Given the description of an element on the screen output the (x, y) to click on. 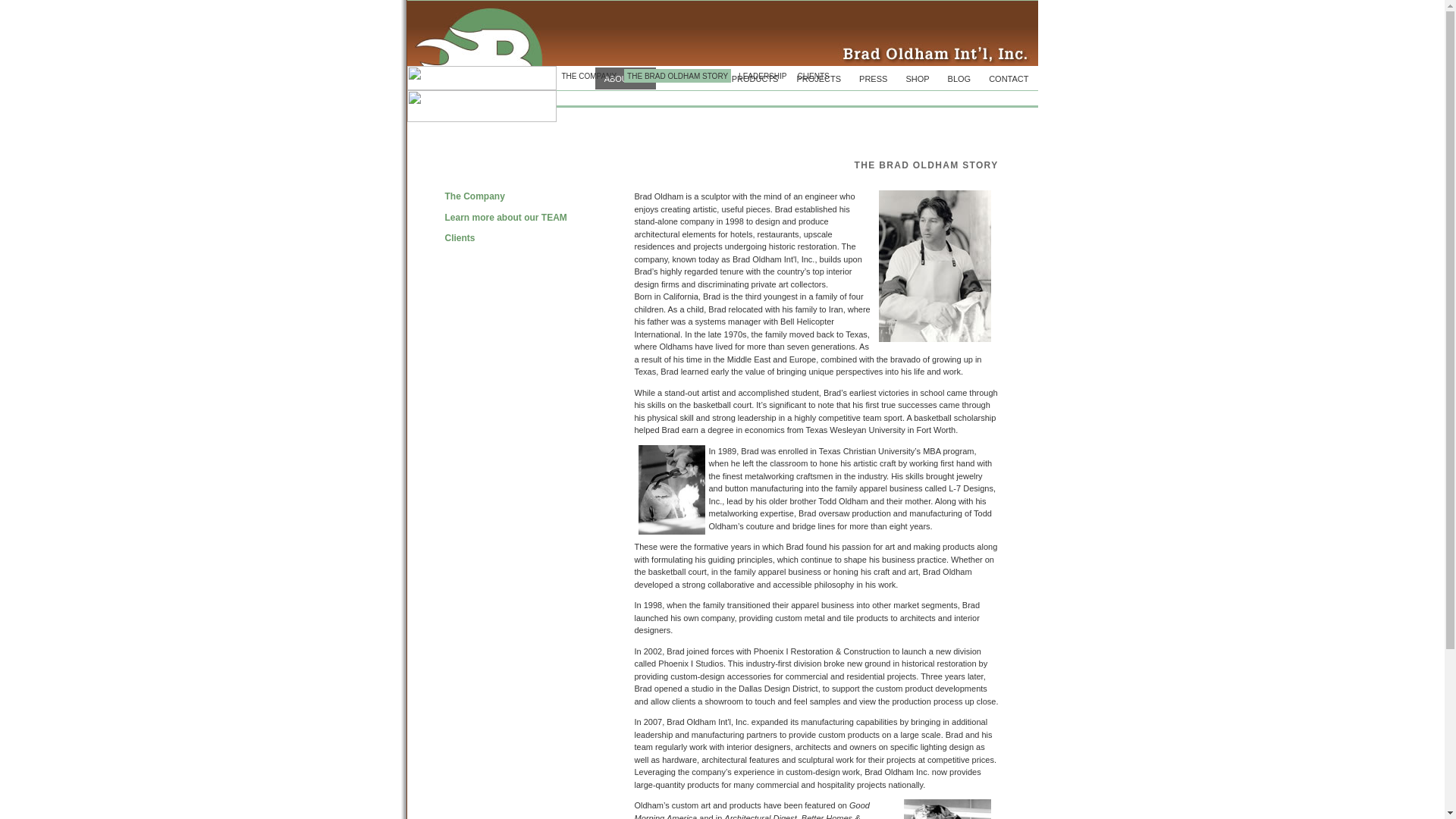
Clients Element type: text (459, 237)
PROJECTS Element type: text (818, 78)
PUBLIC ART Element type: text (688, 78)
SHOP Element type: text (917, 78)
The Company Element type: text (474, 196)
PRODUCTS Element type: text (754, 78)
THE COMPANY Element type: text (588, 75)
PRESS Element type: text (873, 78)
BLOG Element type: text (959, 78)
Learn more about our TEAM Element type: text (505, 217)
ABOUT US Element type: text (625, 78)
THE BRAD OLDHAM STORY Element type: text (677, 75)
LEADERSHIP Element type: text (762, 75)
CLIENTS Element type: text (812, 75)
CONTACT Element type: text (1008, 78)
